Given the description of an element on the screen output the (x, y) to click on. 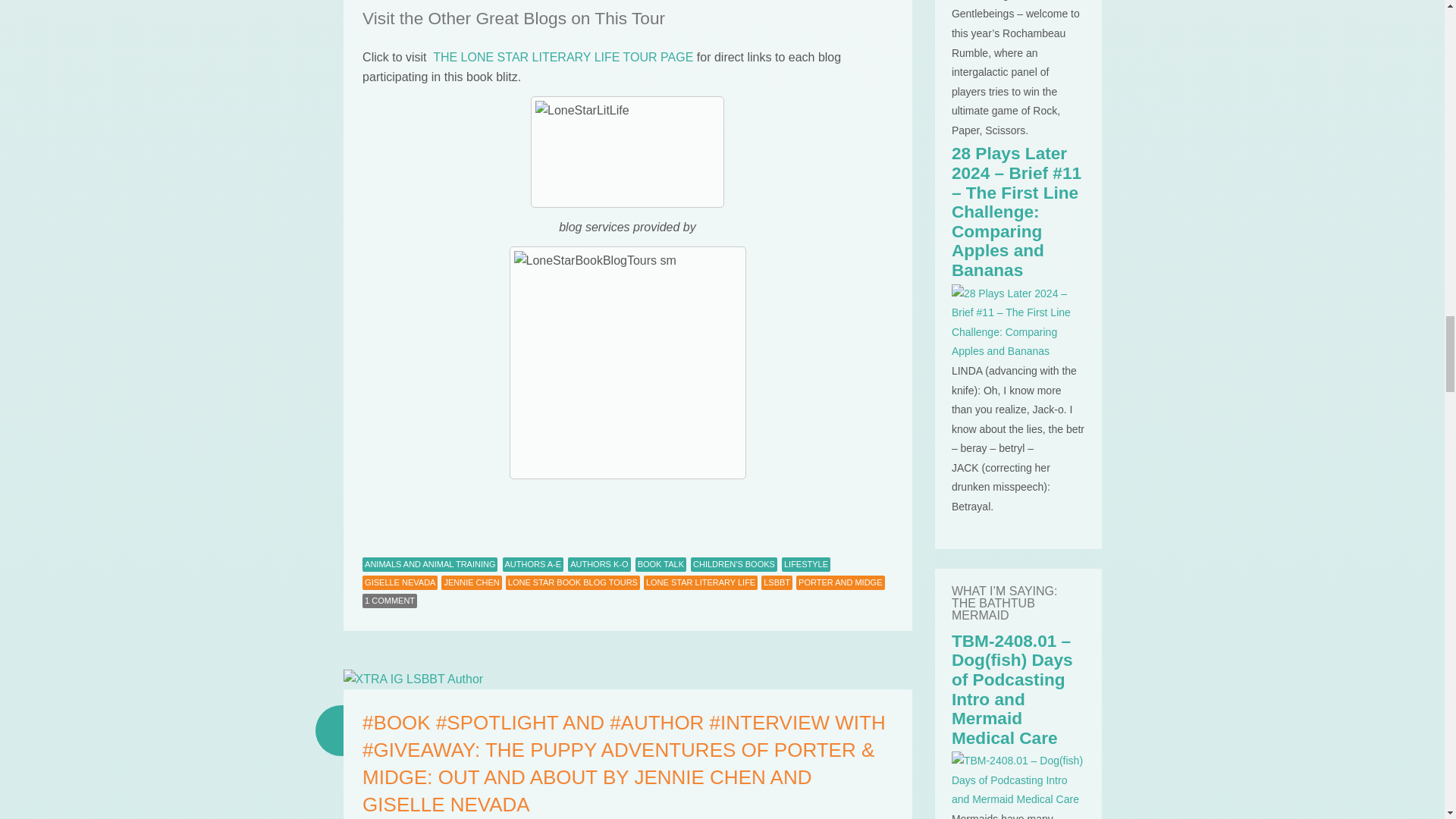
JENNIE CHEN (470, 582)
LONE STAR BOOK BLOG TOURS (572, 582)
BOOK TALK (659, 564)
ANIMALS AND ANIMAL TRAINING (429, 564)
LIFESTYLE (805, 564)
LSBBT (776, 582)
CHILDREN'S BOOKS (733, 564)
LONE STAR LITERARY LIFE (700, 582)
AUTHORS K-O (598, 564)
AUTHORS A-E (533, 564)
GISELLE NEVADA (400, 582)
THE LONE STAR LITERARY LIFE TOUR PAGE (562, 56)
